Given the description of an element on the screen output the (x, y) to click on. 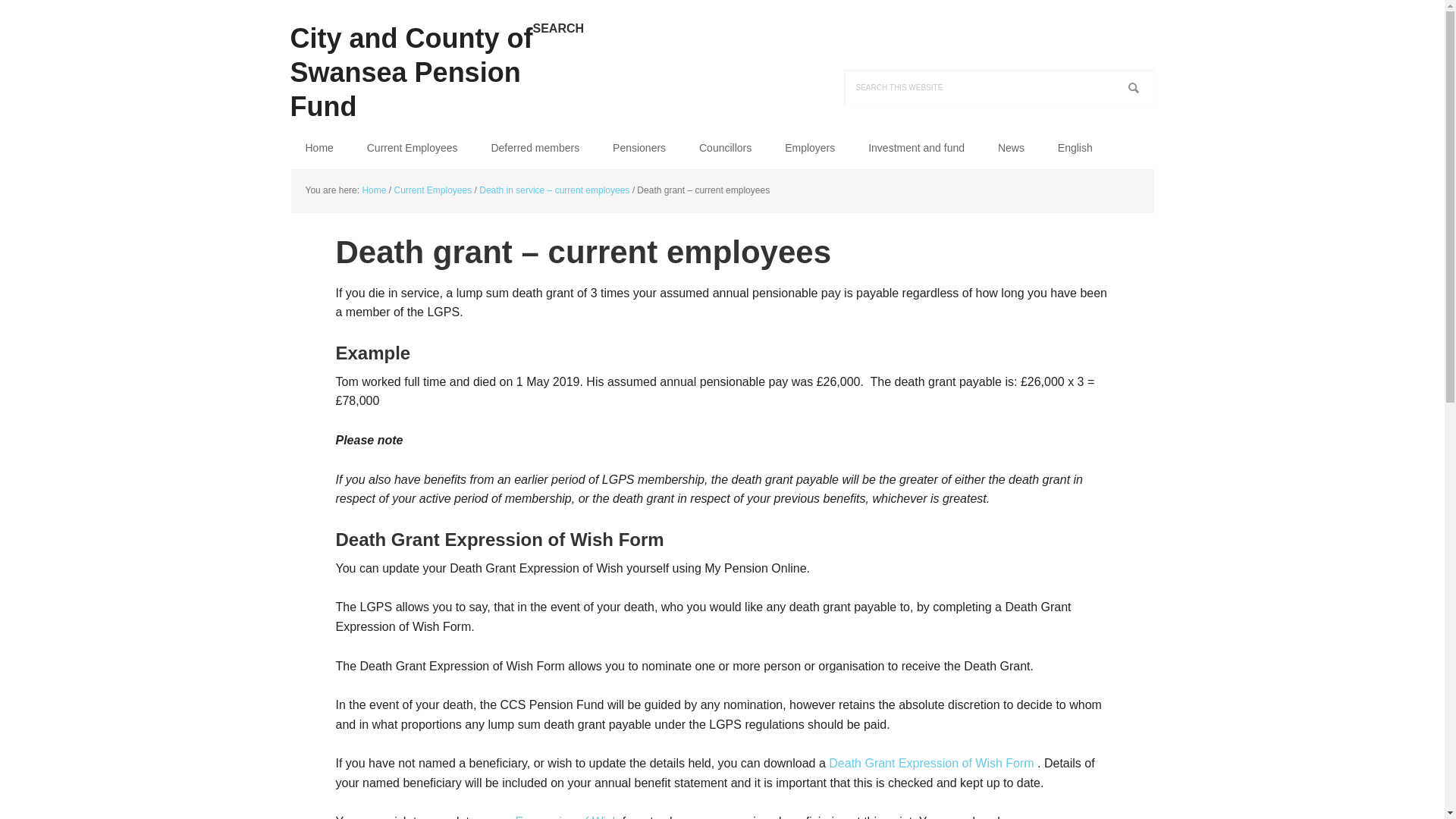
Current Employees (412, 147)
Home (318, 147)
English (1075, 147)
City and County of Swansea Pension Fund (410, 61)
